Given the description of an element on the screen output the (x, y) to click on. 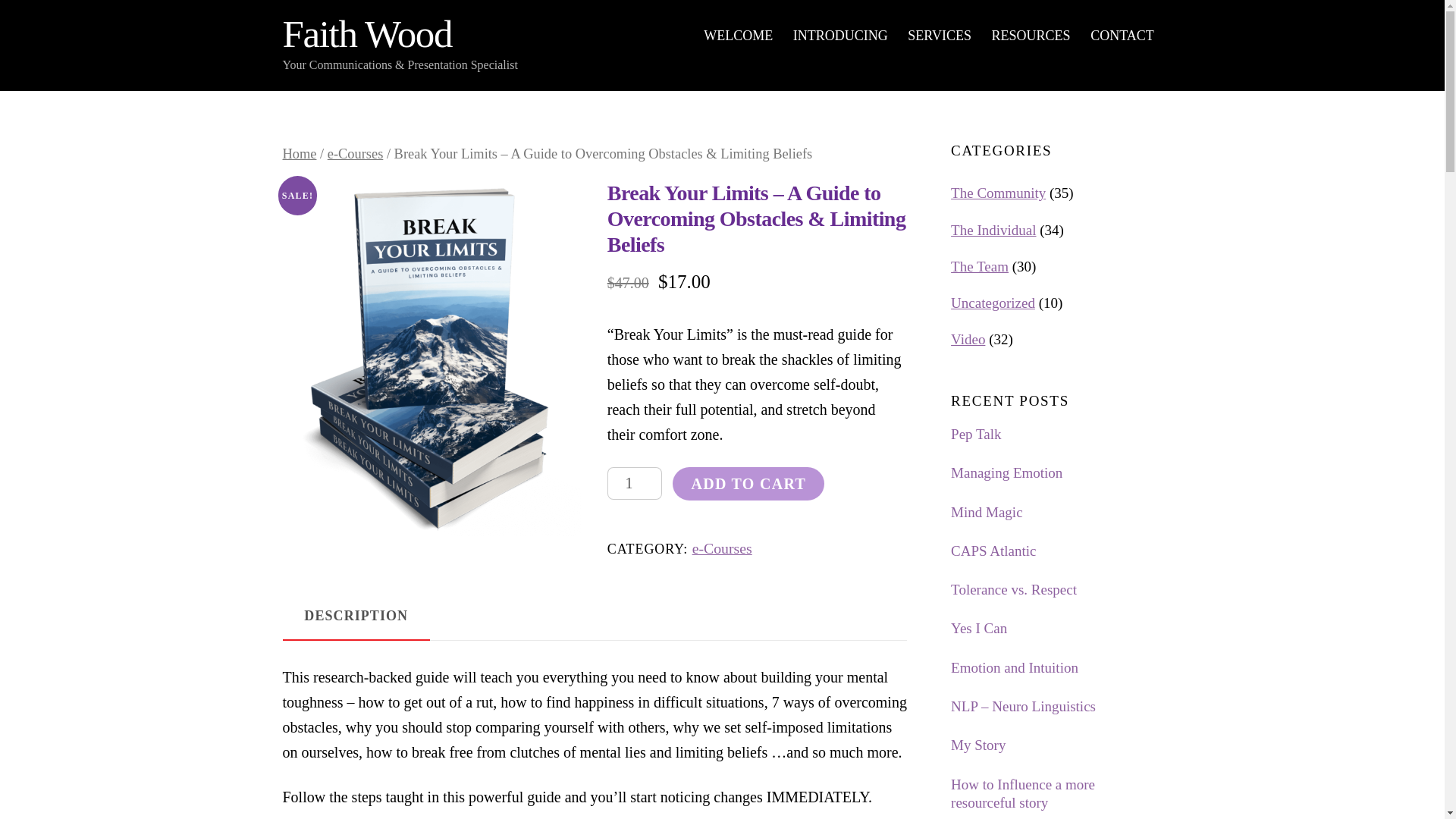
Emotion and Intuition (1055, 668)
Uncategorized (992, 302)
e-Courses (722, 547)
INTRODUCING (840, 35)
DESCRIPTION (355, 615)
The Individual (992, 229)
Mind Magic (1055, 512)
WELCOME (737, 35)
1 (634, 482)
Yes I Can (1055, 628)
Tolerance vs. Respect (1055, 589)
Home (298, 153)
Pep Talk (1055, 434)
SERVICES (939, 35)
Faith Wood (366, 34)
